Given the description of an element on the screen output the (x, y) to click on. 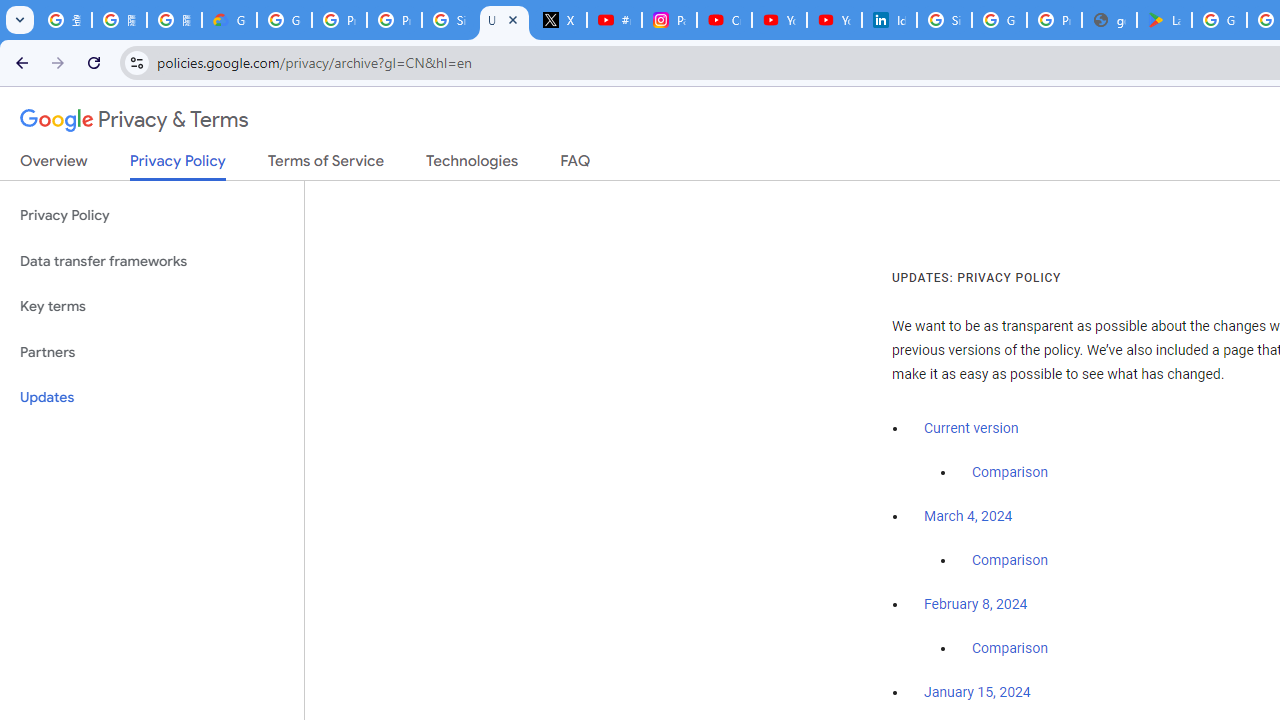
Privacy Help Center - Policies Help (339, 20)
Privacy Help Center - Policies Help (394, 20)
January 15, 2024 (977, 693)
